Given the description of an element on the screen output the (x, y) to click on. 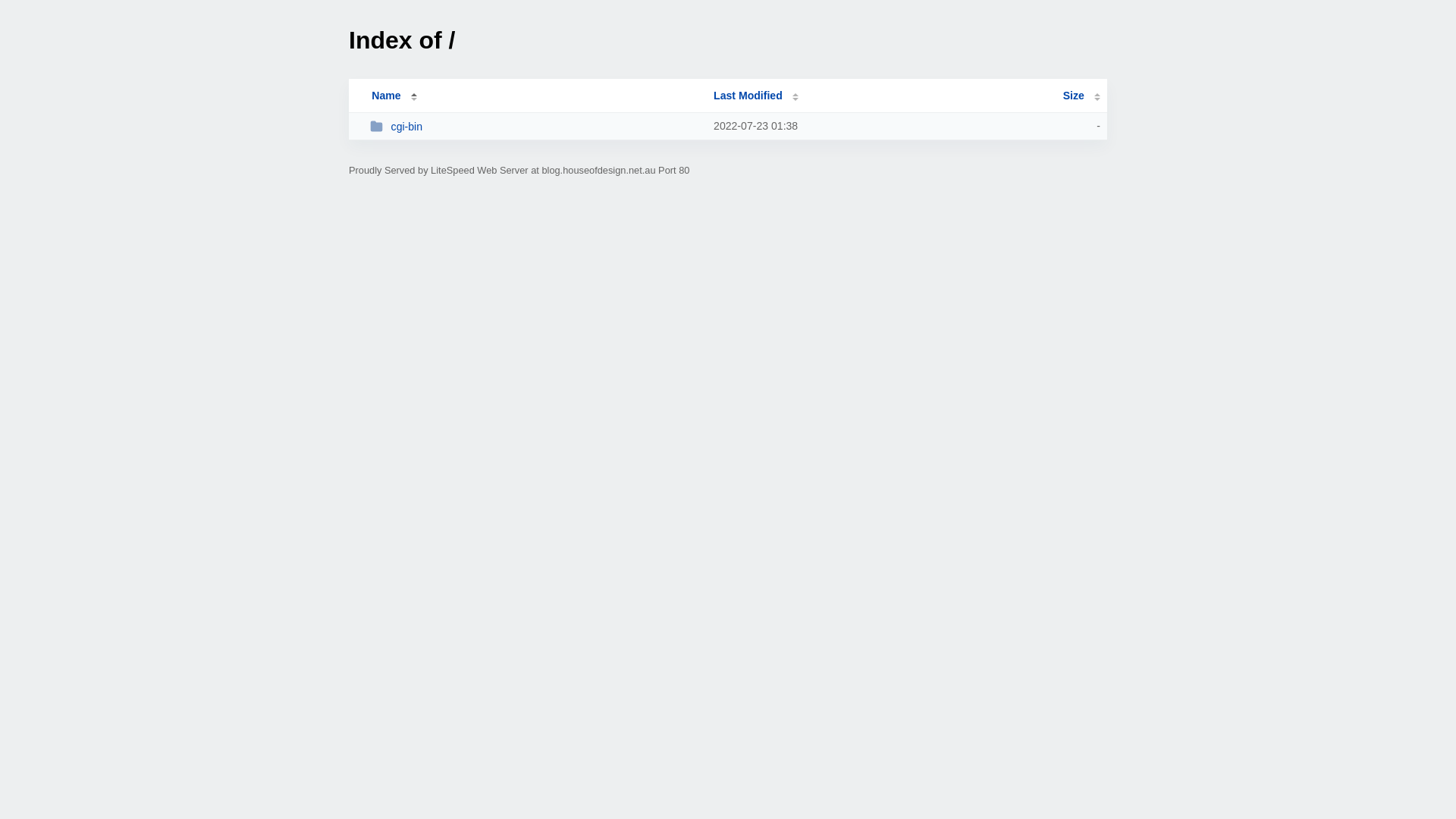
Last Modified Element type: text (755, 95)
Name Element type: text (385, 95)
cgi-bin Element type: text (534, 125)
Size Element type: text (1081, 95)
